Given the description of an element on the screen output the (x, y) to click on. 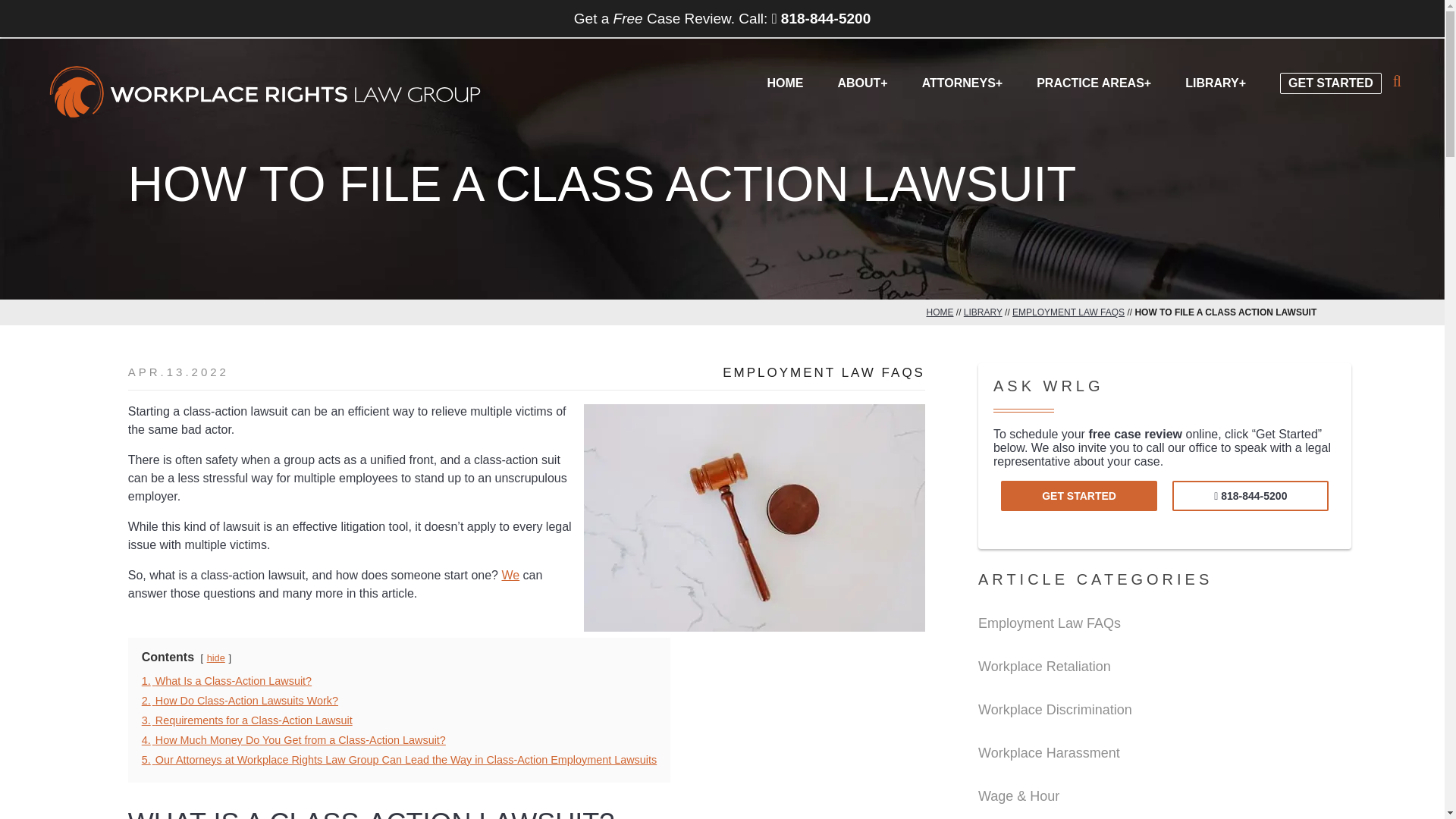
LIBRARY (983, 312)
HOME (939, 312)
Employment Law FAQs (823, 372)
Workplace Rights Law Group Home (265, 93)
PRACTICE AREAS (1093, 81)
LIBRARY (1215, 81)
Call Us (1249, 495)
GET STARTED (1330, 71)
ATTORNEYS (962, 81)
ABOUT (861, 81)
